Given the description of an element on the screen output the (x, y) to click on. 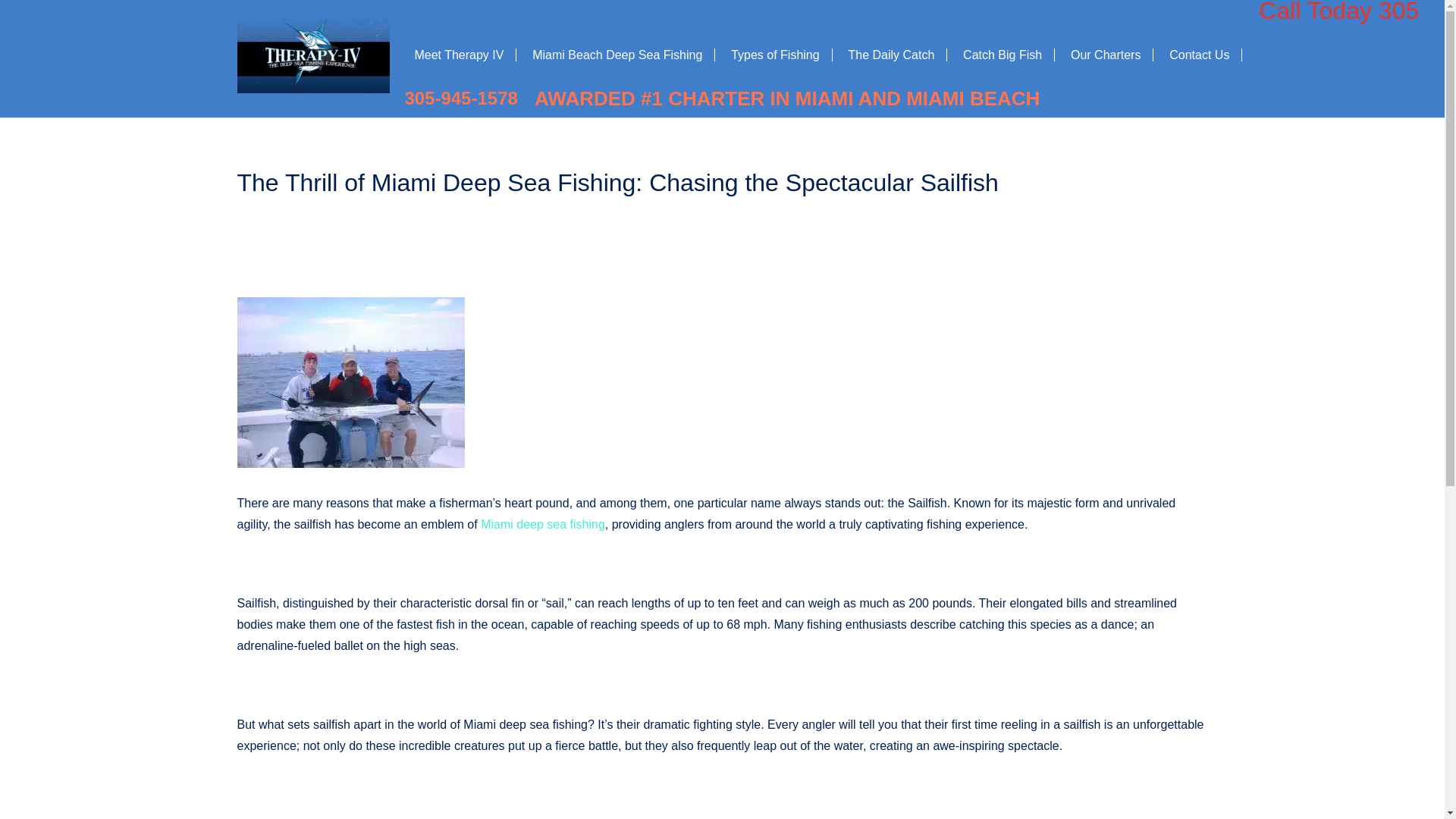
Types of Fishing (788, 54)
Miami Beach Deep Sea Fishing (630, 54)
Catch Big Fish (1016, 54)
The Daily Catch (904, 54)
Meet Therapy IV (472, 54)
